Given the description of an element on the screen output the (x, y) to click on. 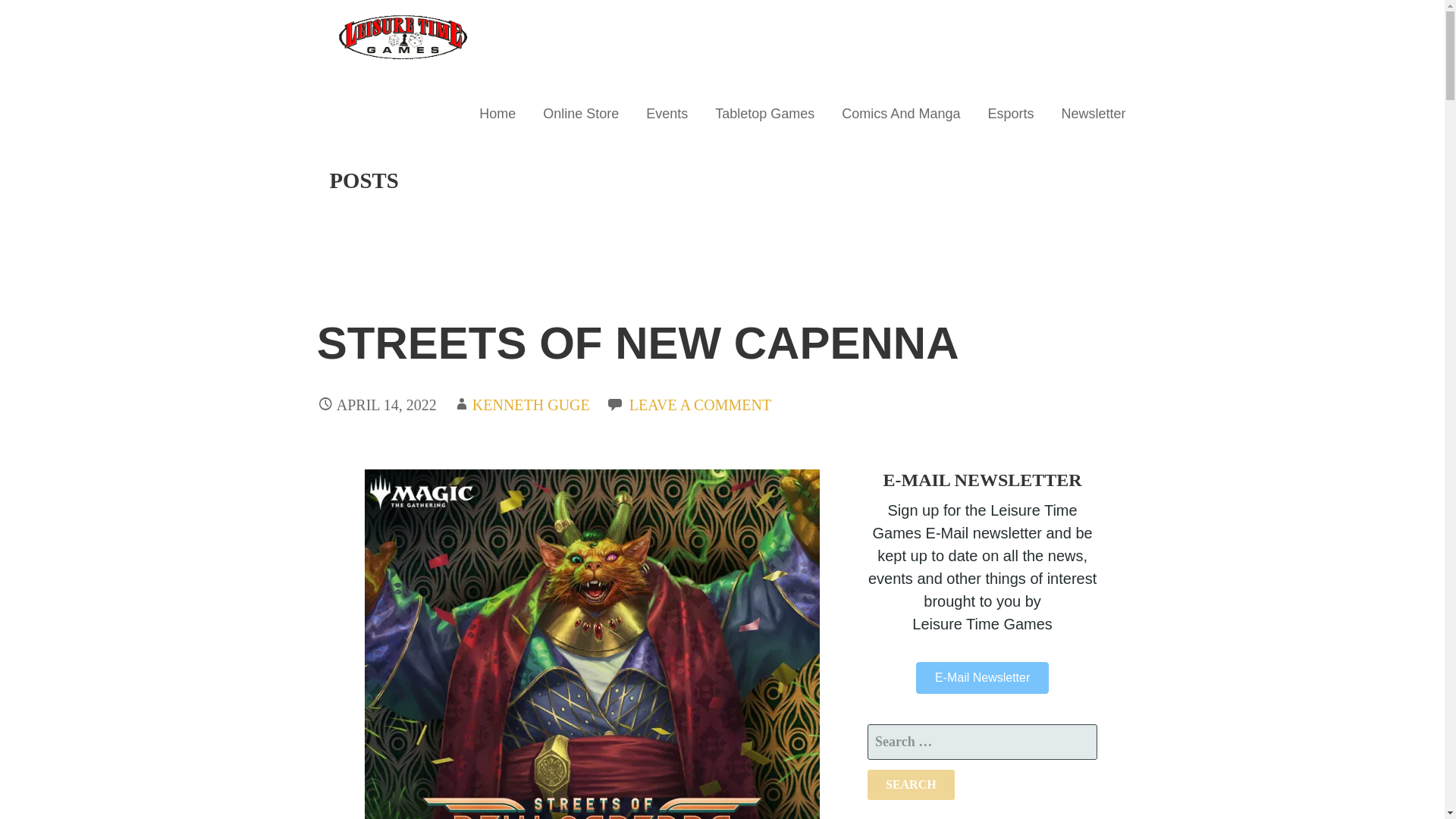
Search (911, 784)
Posts by Kenneth Guge (530, 404)
Newsletter (1092, 113)
Events (666, 113)
Esports (1010, 113)
Search (911, 784)
LEISURE TIME GAMES (437, 86)
LEAVE A COMMENT (699, 404)
Comics And Manga (901, 113)
Search (911, 784)
KENNETH GUGE (530, 404)
Online Store (580, 113)
E-Mail Newsletter (981, 677)
Tabletop Games (764, 113)
